Given the description of an element on the screen output the (x, y) to click on. 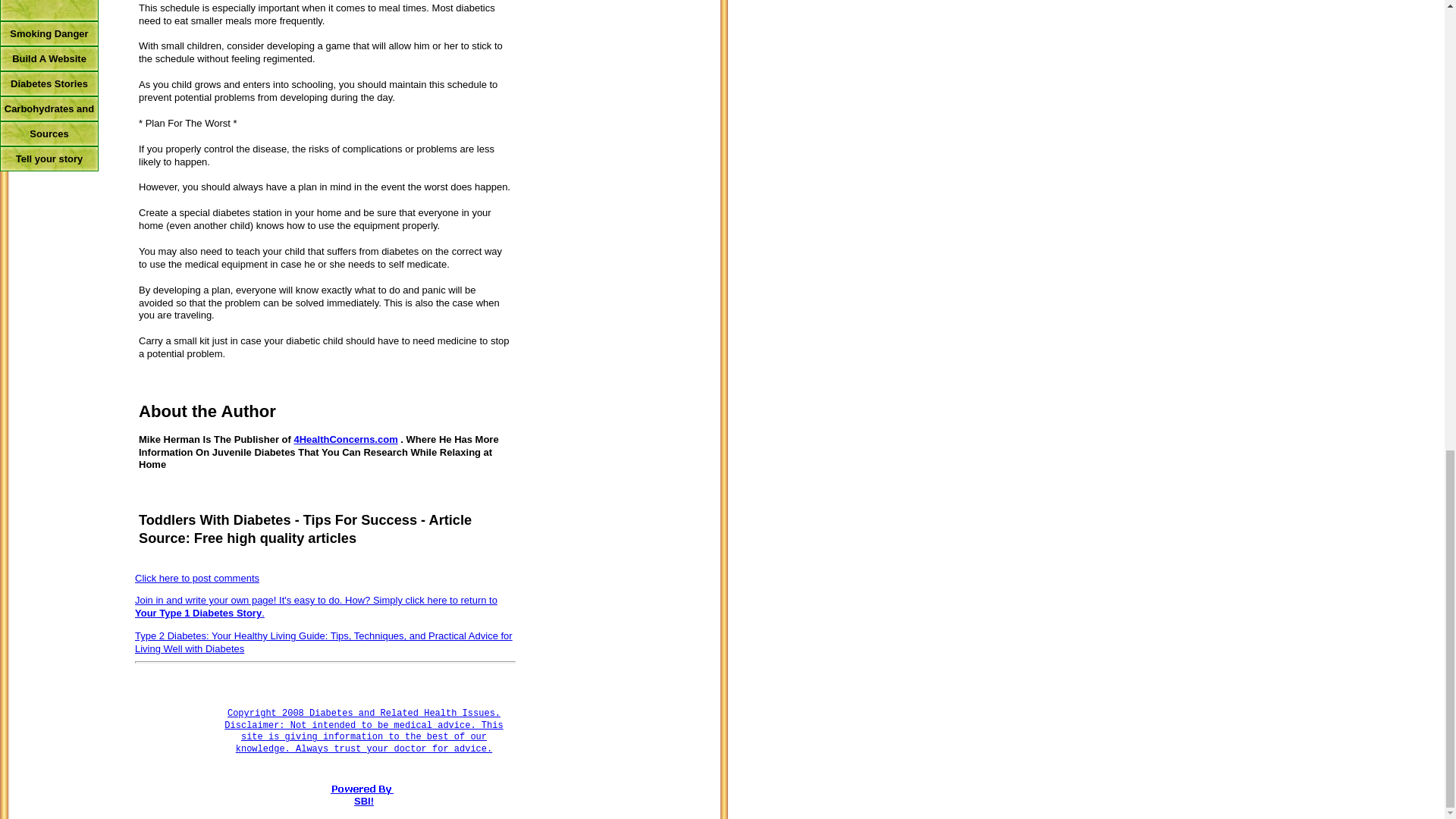
4HealthConcerns.com (345, 439)
Click here to post comments (197, 577)
